Given the description of an element on the screen output the (x, y) to click on. 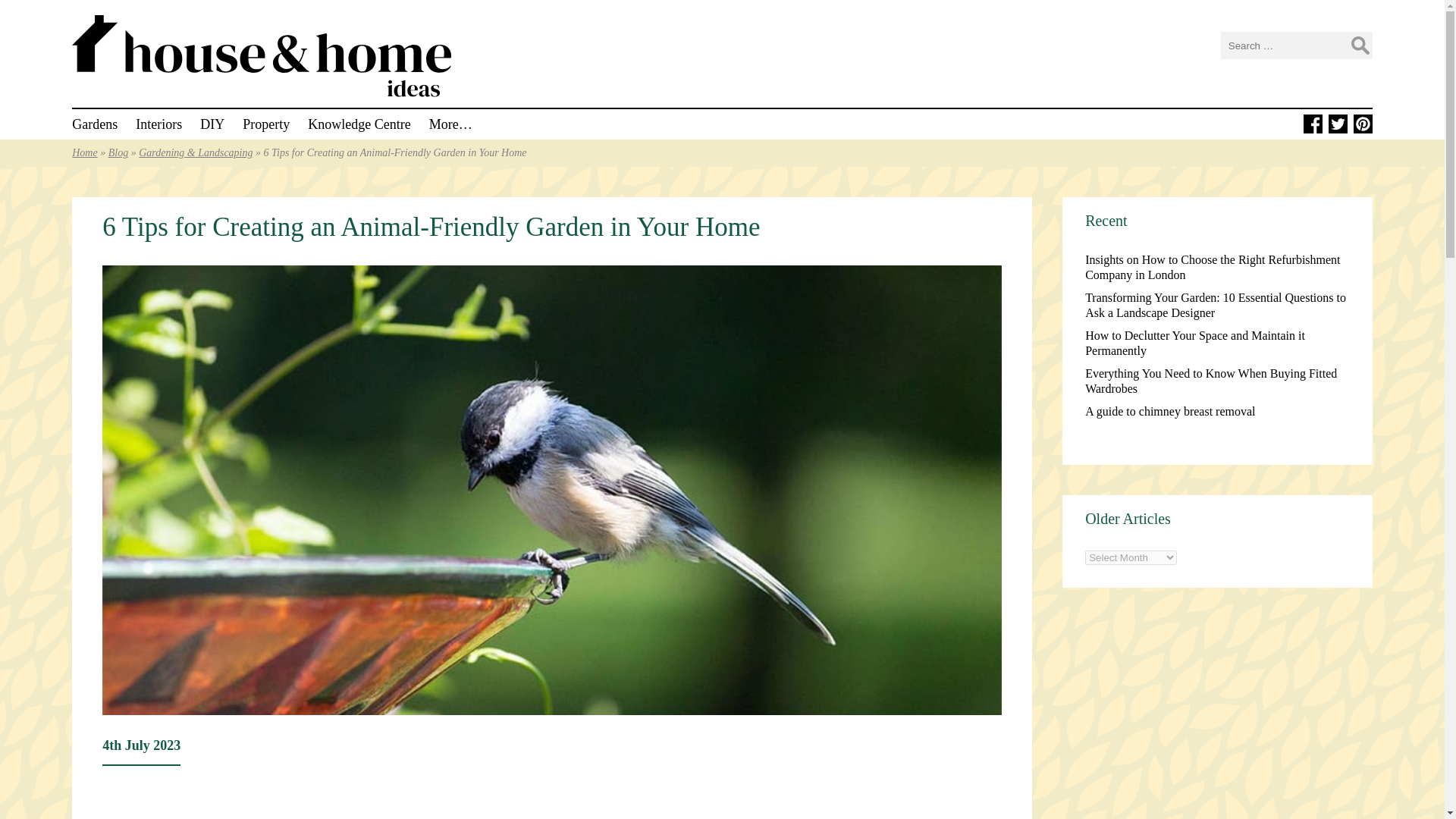
Knowledge Centre (358, 124)
DIY (212, 124)
Everything You Need to Know When Buying Fitted Wardrobes (1210, 380)
6 Tips for Creating an Animal-Friendly Garden in Your Home (430, 226)
Property (266, 124)
6 Tips for Creating an Animal-Friendly Garden in Your Home (430, 226)
Interiors (158, 124)
Gardens (94, 124)
How to Declutter Your Space and Maintain it Permanently (1194, 343)
